Given the description of an element on the screen output the (x, y) to click on. 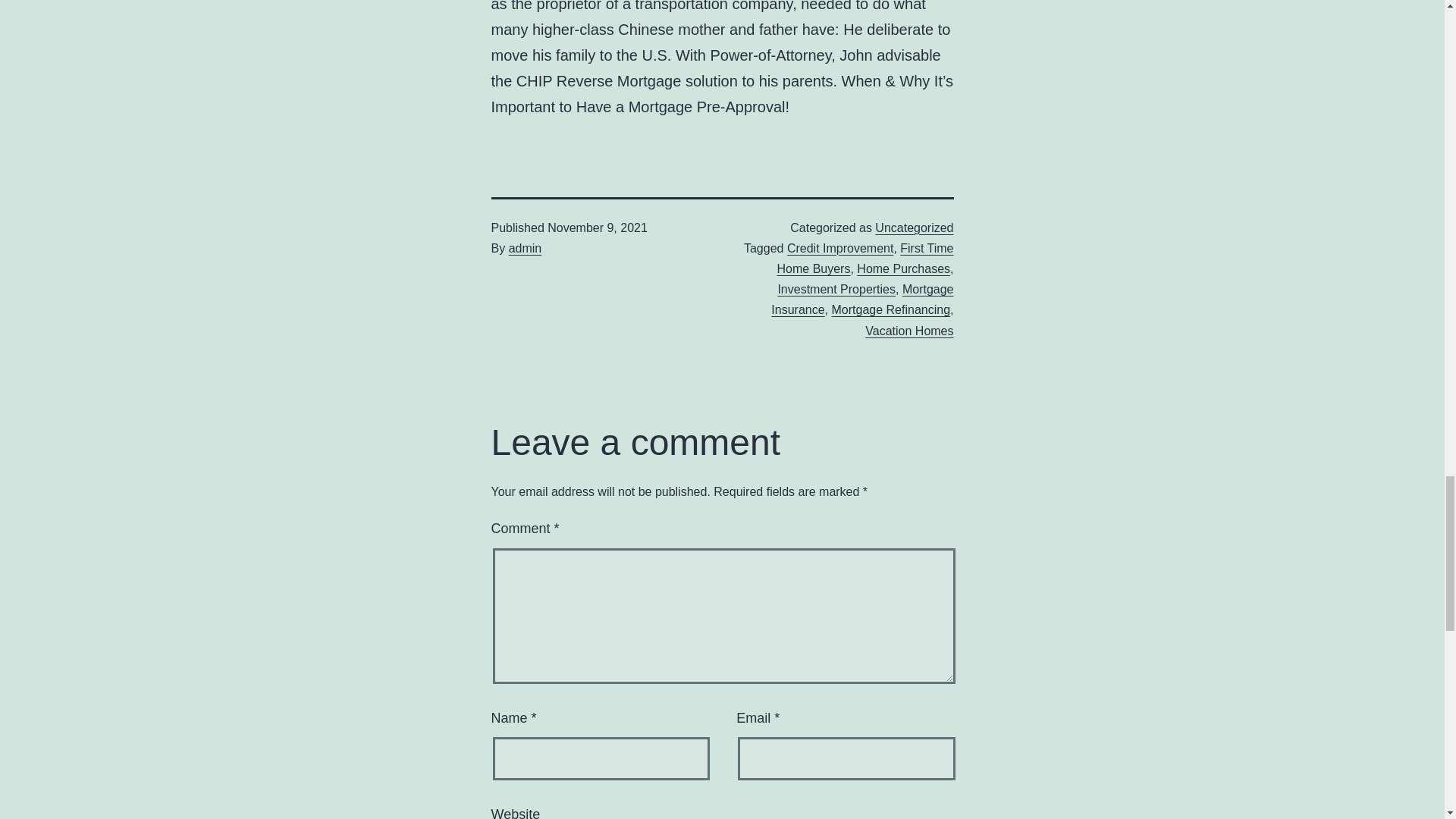
Mortgage Insurance (862, 299)
Investment Properties (836, 288)
First Time Home Buyers (865, 258)
Vacation Homes (908, 330)
Mortgage Refinancing (890, 309)
admin (524, 247)
Uncategorized (914, 227)
Credit Improvement (840, 247)
Home Purchases (903, 268)
